Given the description of an element on the screen output the (x, y) to click on. 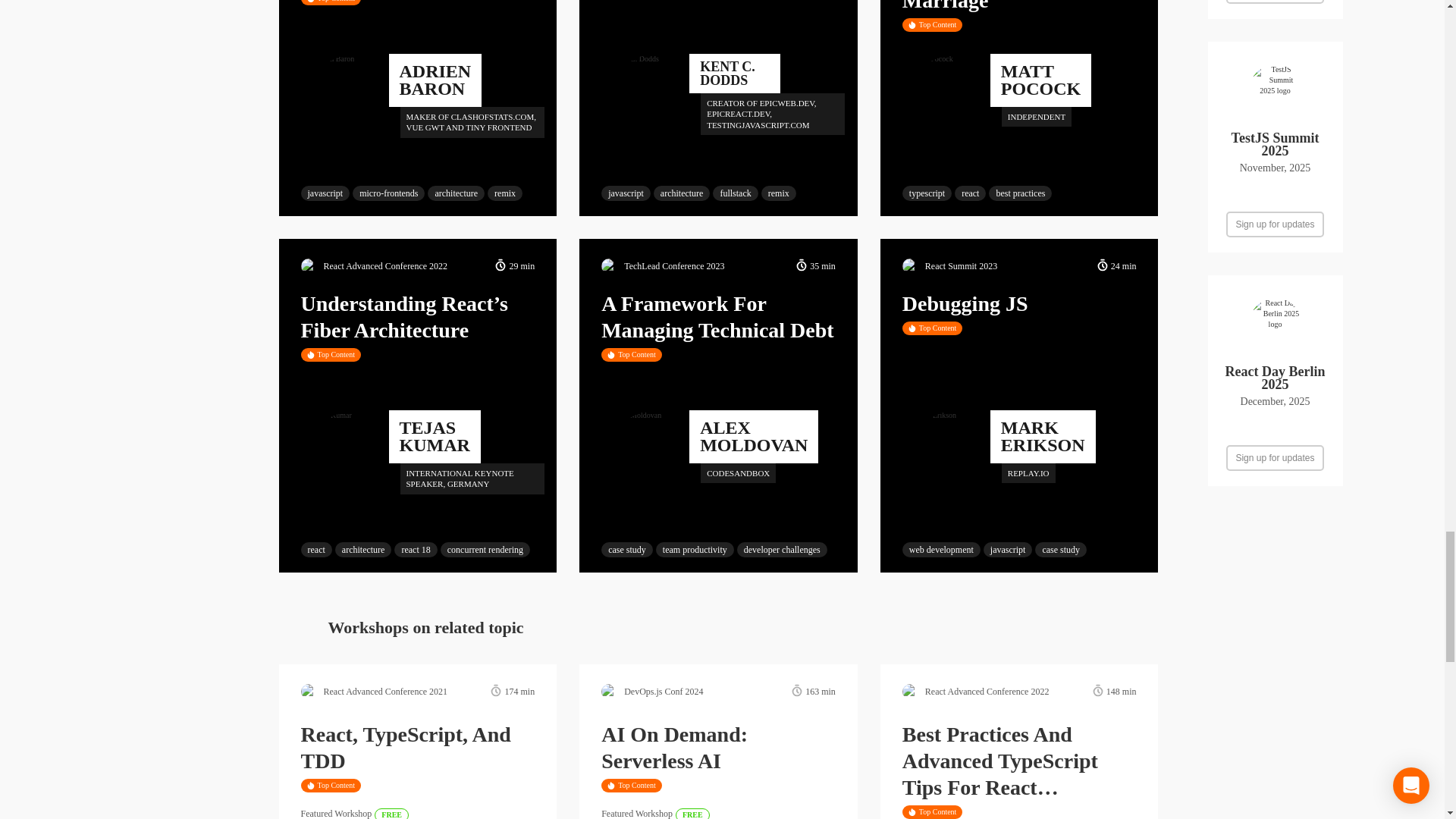
Get email notification when event registration opens. (1274, 224)
Get email notification when event registration opens. (1274, 2)
Get email notification when event registration opens. (1274, 457)
